Given the description of an element on the screen output the (x, y) to click on. 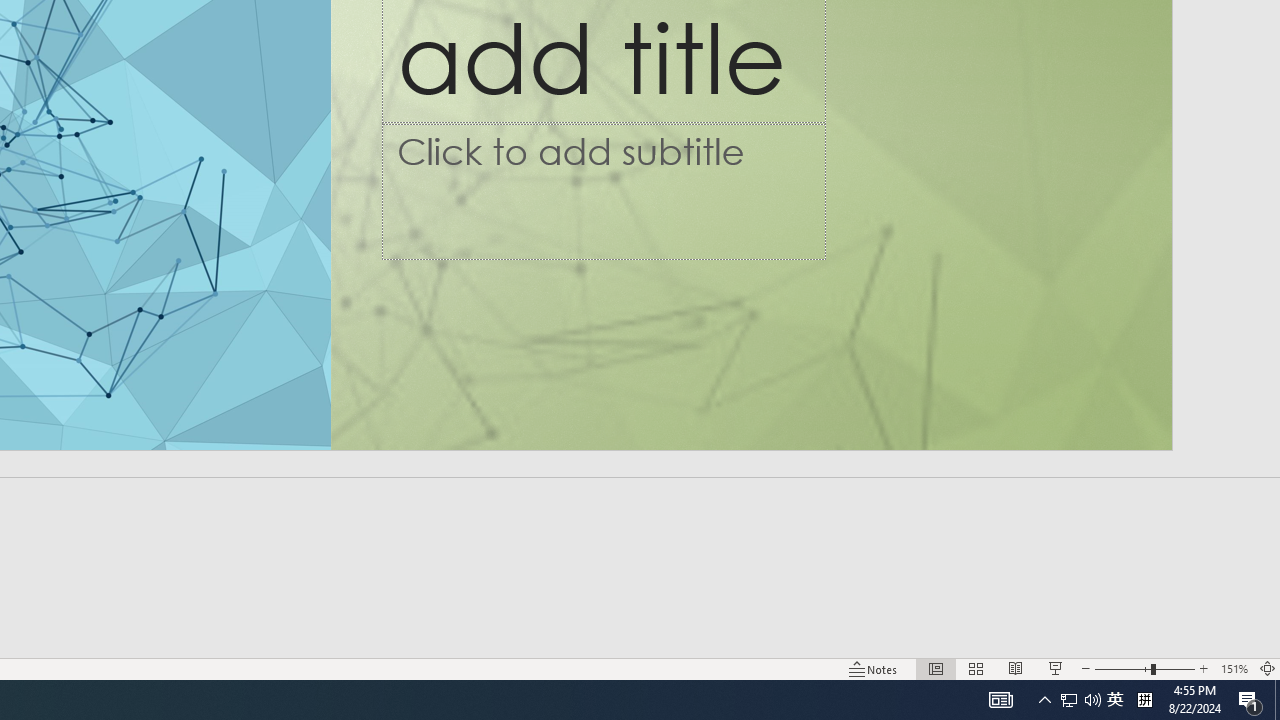
Zoom 151% (1234, 668)
